Given the description of an element on the screen output the (x, y) to click on. 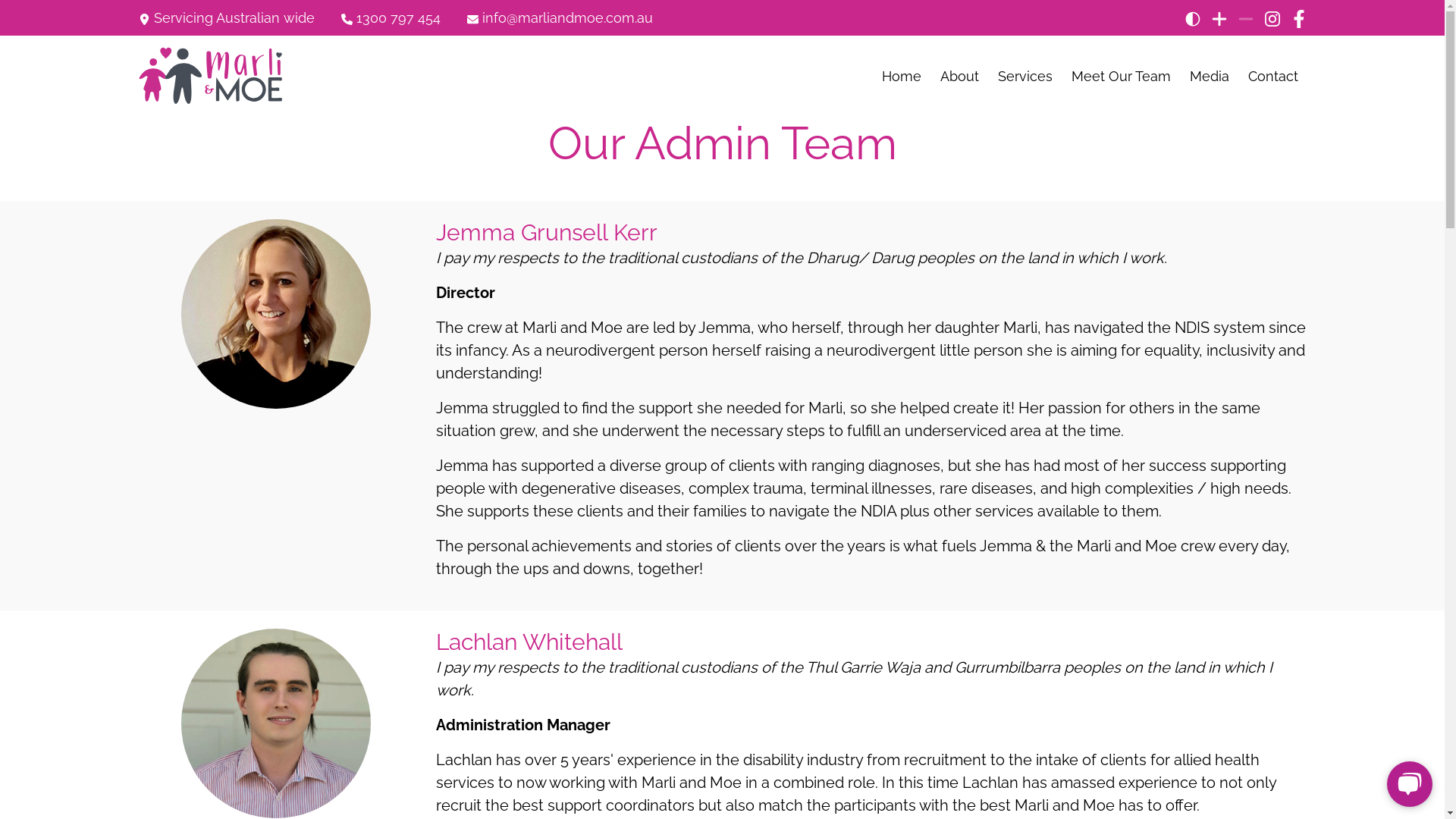
About Element type: text (959, 75)
Contact Element type: text (1272, 75)
Meet Our Team Element type: text (1120, 75)
Home Element type: text (901, 75)
1300 797 454 Element type: text (390, 19)
Services Element type: text (1025, 75)
Media Element type: text (1209, 75)
info@marliandmoe.com.au Element type: text (559, 19)
